Given the description of an element on the screen output the (x, y) to click on. 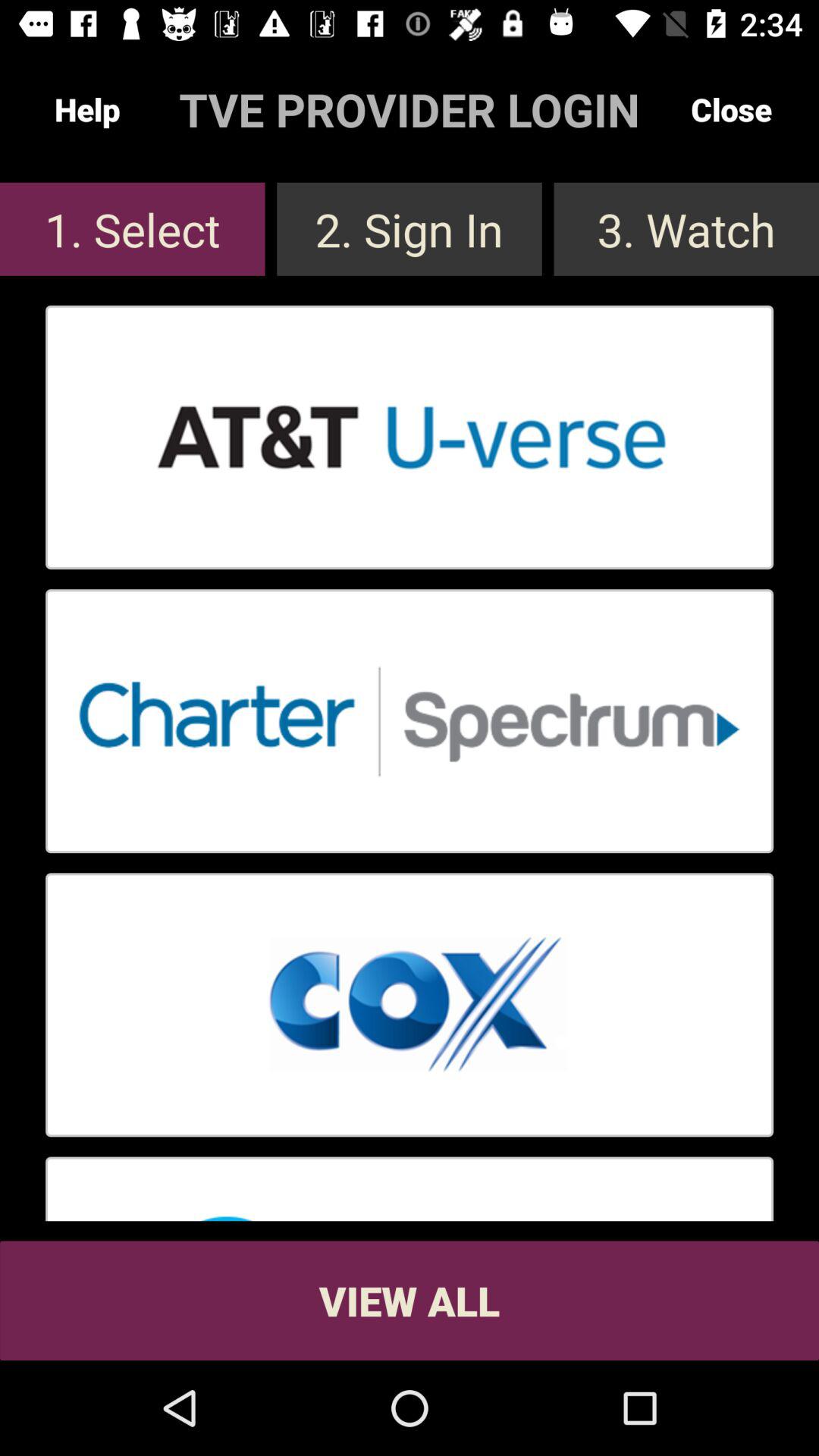
click the item above the 1. select app (87, 108)
